Given the description of an element on the screen output the (x, y) to click on. 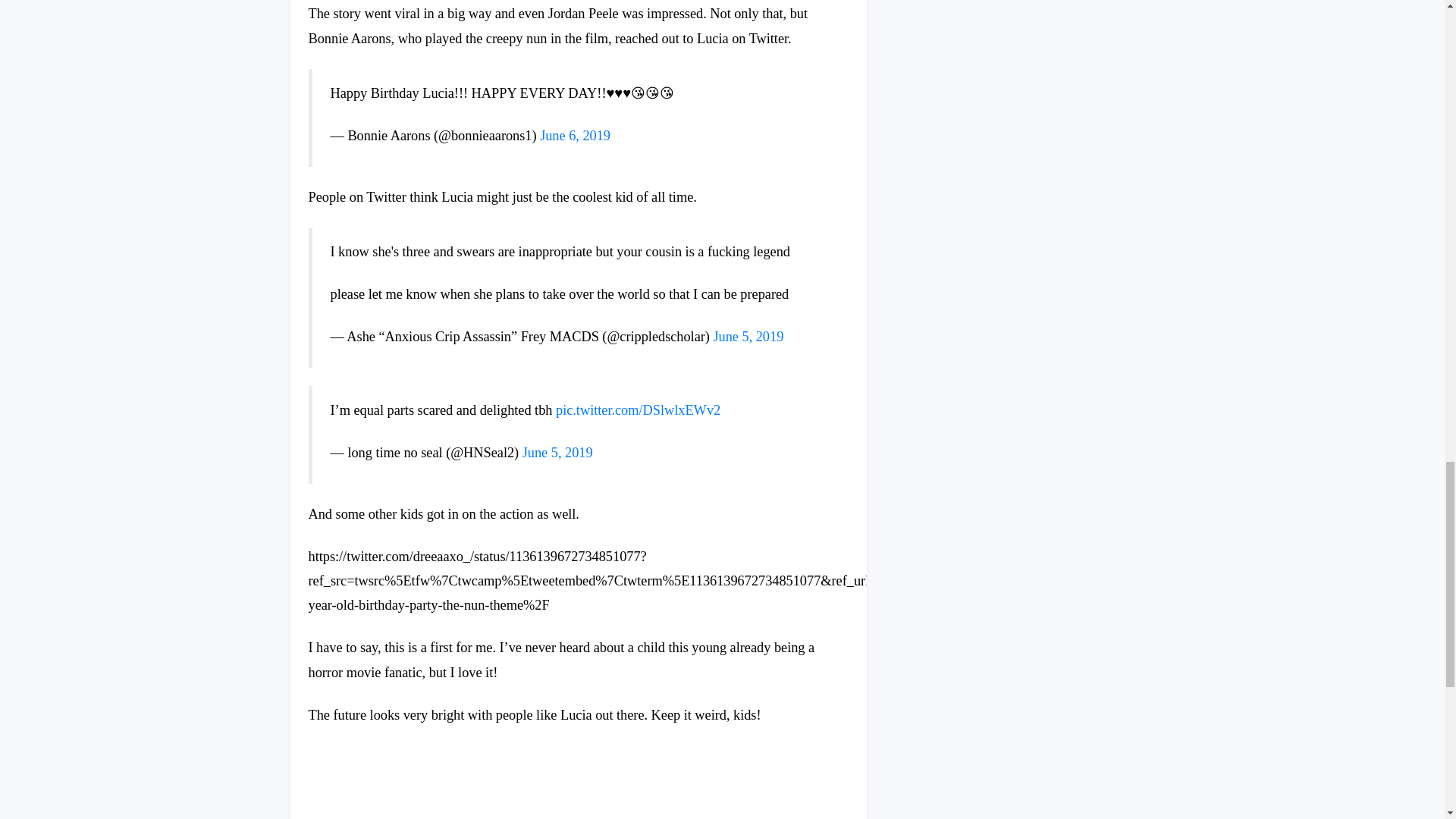
June 5, 2019 (557, 452)
June 5, 2019 (748, 336)
June 6, 2019 (575, 135)
